Given the description of an element on the screen output the (x, y) to click on. 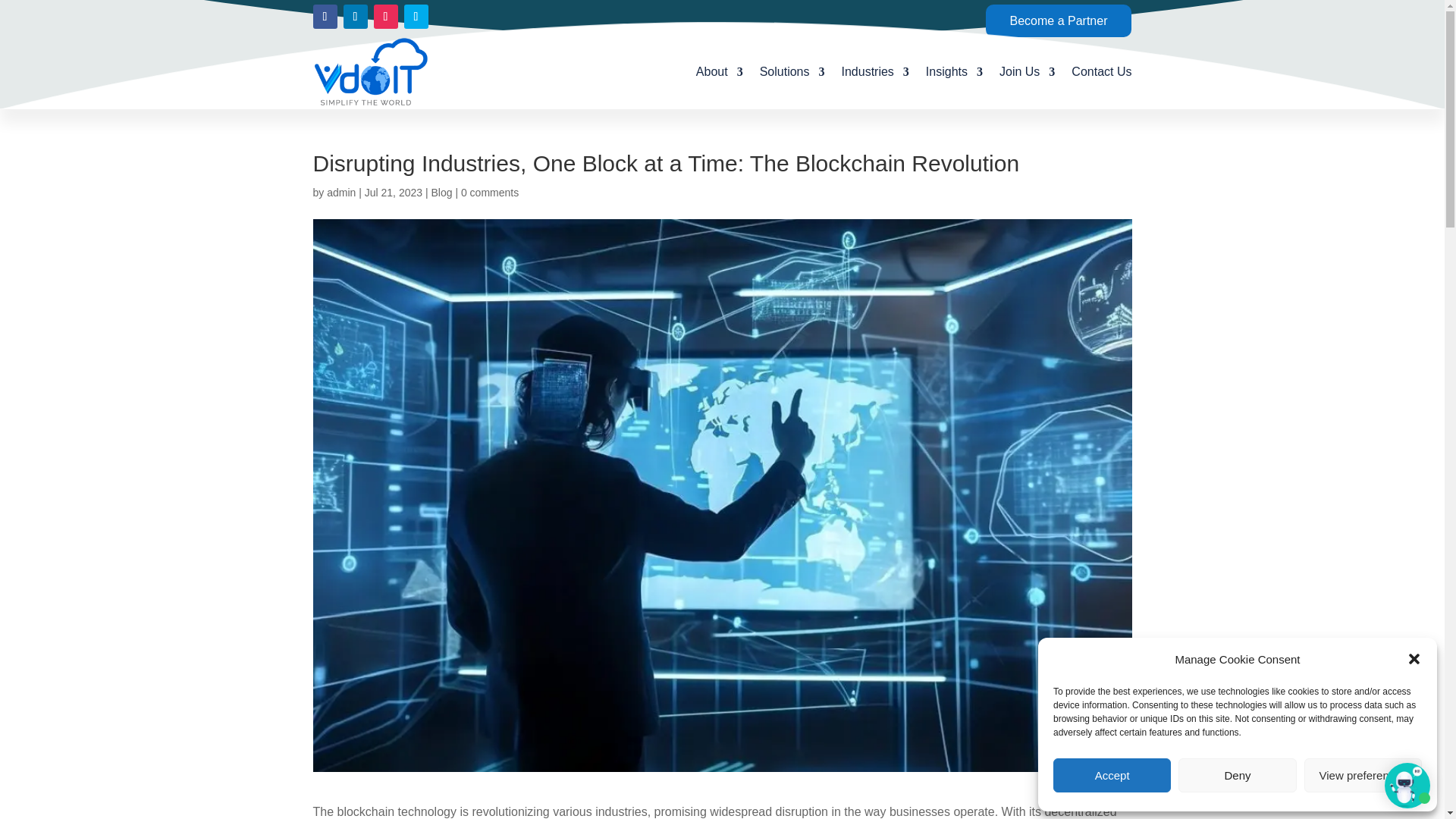
Follow on Instagram (384, 16)
Accept (1111, 775)
Follow on LinkedIn (354, 16)
Solutions (792, 71)
Follow on Twitter (415, 16)
Follow on Facebook (324, 16)
Deny (1236, 775)
Posts by admin (340, 192)
Become a Partner (1058, 20)
View preferences (1363, 775)
